Given the description of an element on the screen output the (x, y) to click on. 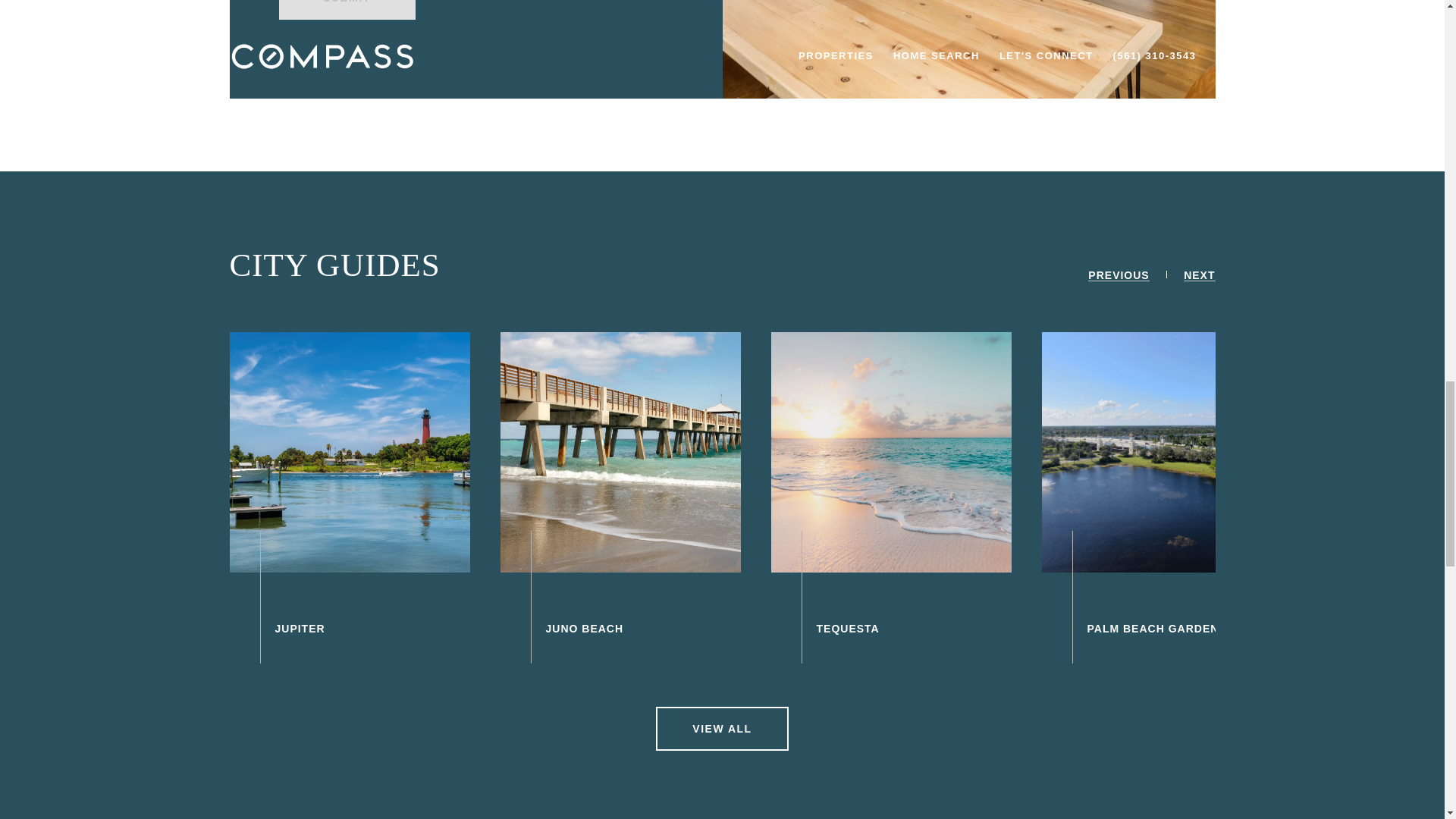
SUBMIT (346, 9)
